Given the description of an element on the screen output the (x, y) to click on. 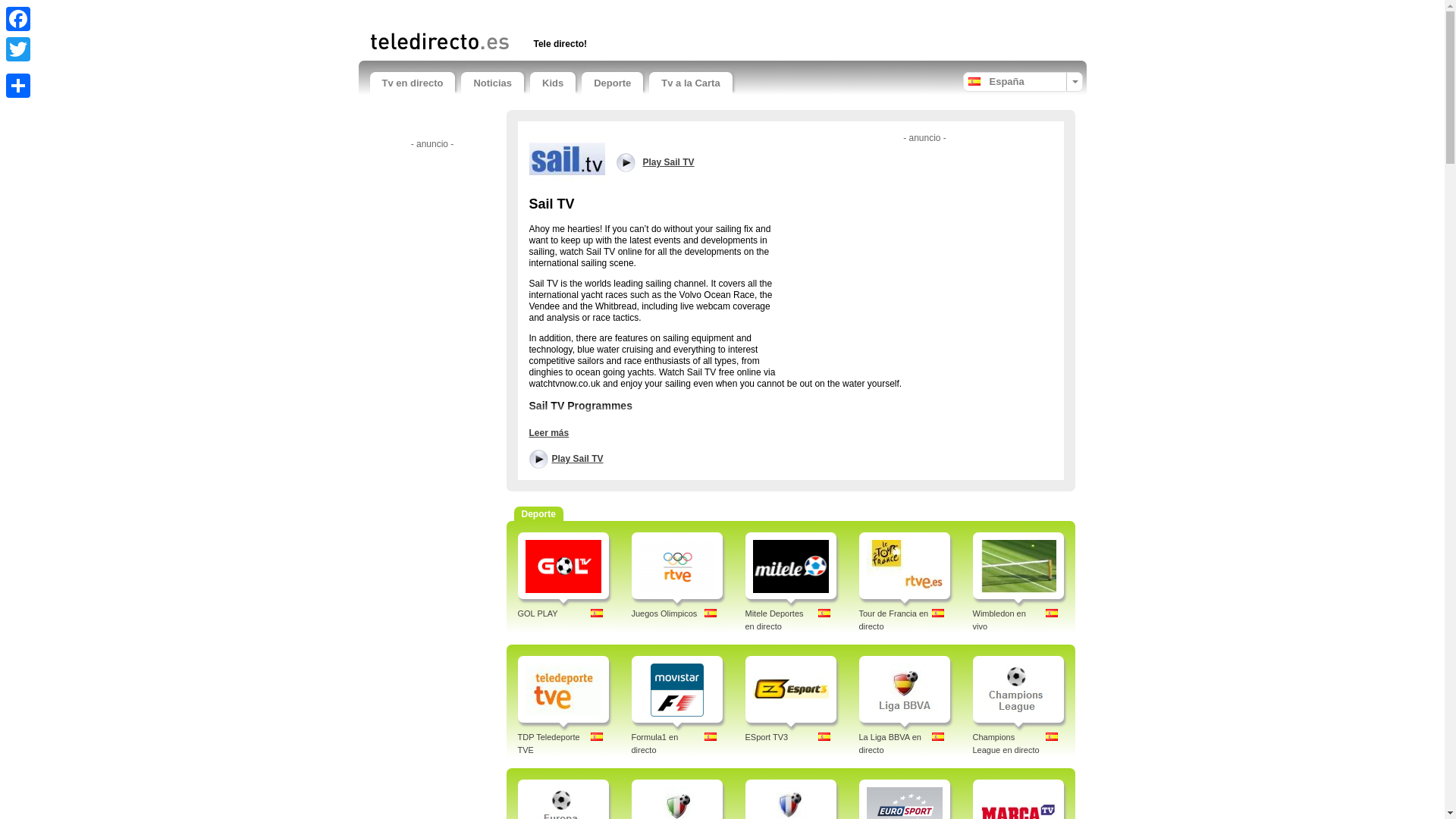
Play Sail TV (566, 458)
Noticias (492, 83)
Twitter (17, 49)
Advertisement (924, 254)
Kids (552, 83)
Tv en directo (412, 83)
play Sail TV live (566, 458)
Deporte (611, 83)
Tv a la Carta (690, 83)
play Sail TV (696, 162)
GOL PLAY (536, 613)
Play Sail TV (567, 158)
Play Sail TV (696, 162)
Share (17, 85)
Advertisement (547, 12)
